Given the description of an element on the screen output the (x, y) to click on. 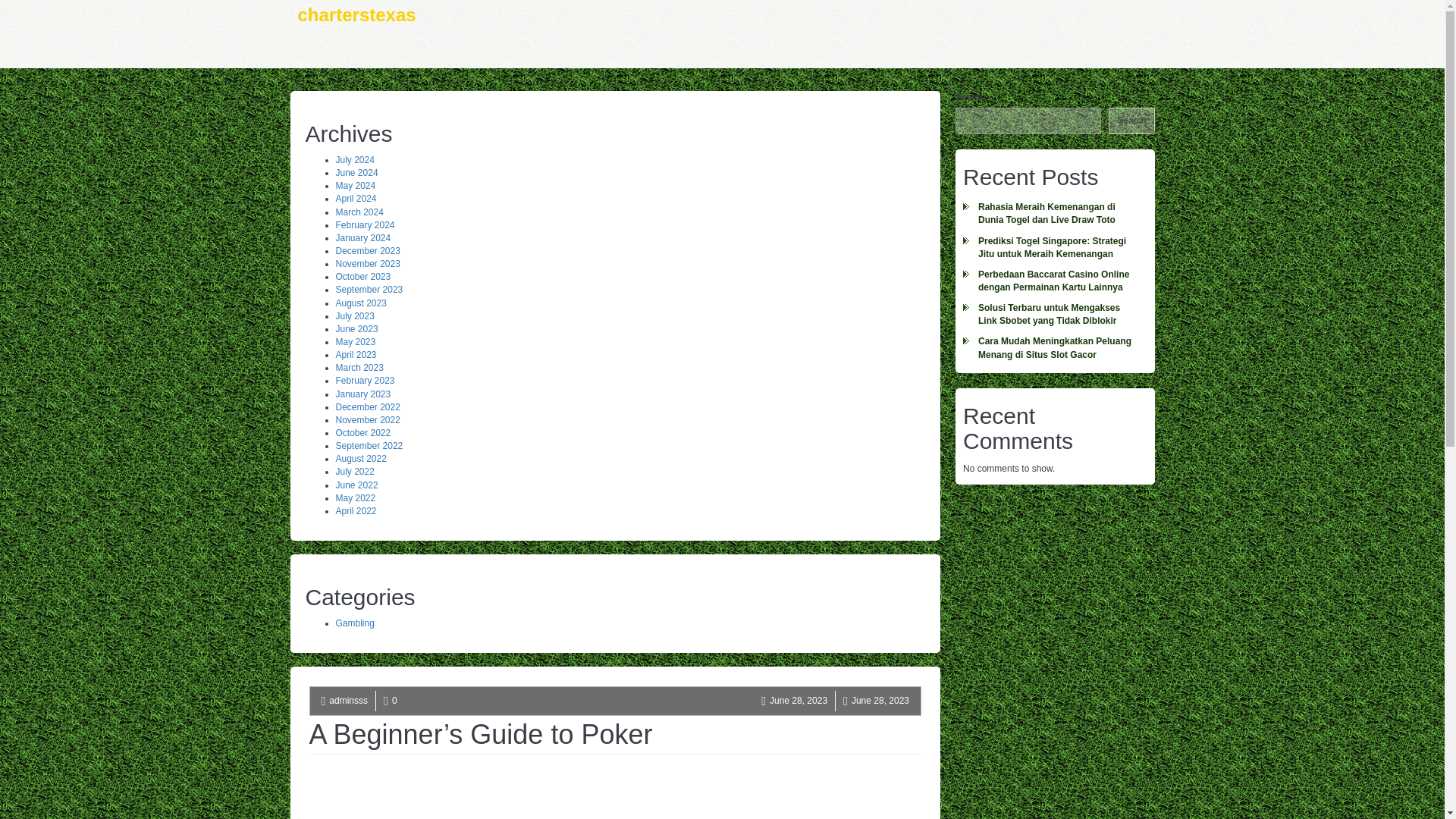
April 2023 (354, 354)
July 2024 (354, 159)
May 2023 (354, 341)
August 2023 (359, 303)
June 2023 (355, 328)
November 2023 (366, 263)
January 2024 (362, 237)
Rahasia Meraih Kemenangan di Dunia Togel dan Live Draw Toto (1054, 213)
November 2022 (366, 419)
Cara Mudah Meningkatkan Peluang Menang di Situs Slot Gacor (1054, 347)
July 2023 (354, 316)
October 2023 (362, 276)
charterstexas (356, 33)
